Given the description of an element on the screen output the (x, y) to click on. 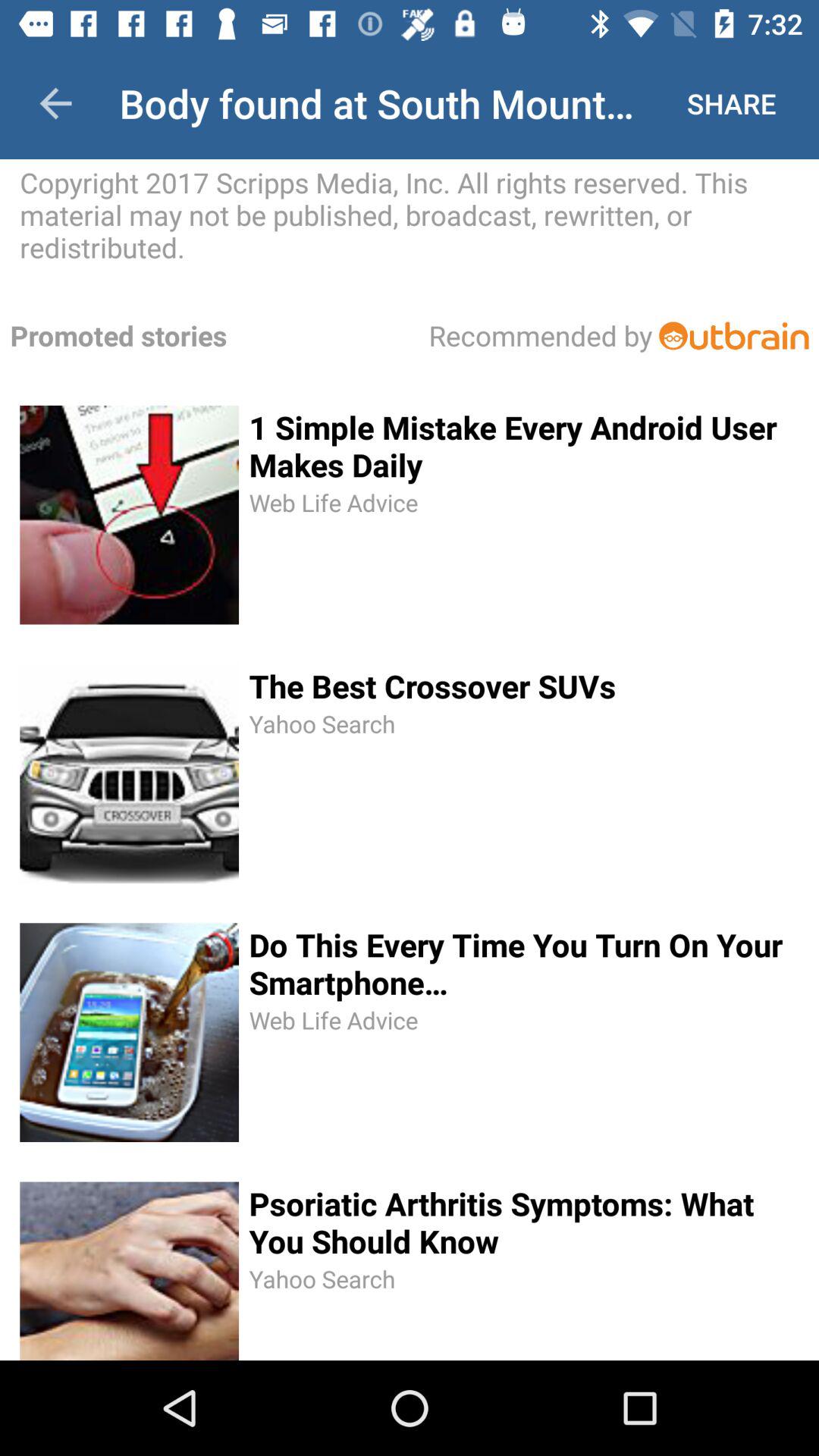
tap icon above copyright 2017 scripps icon (55, 103)
